Given the description of an element on the screen output the (x, y) to click on. 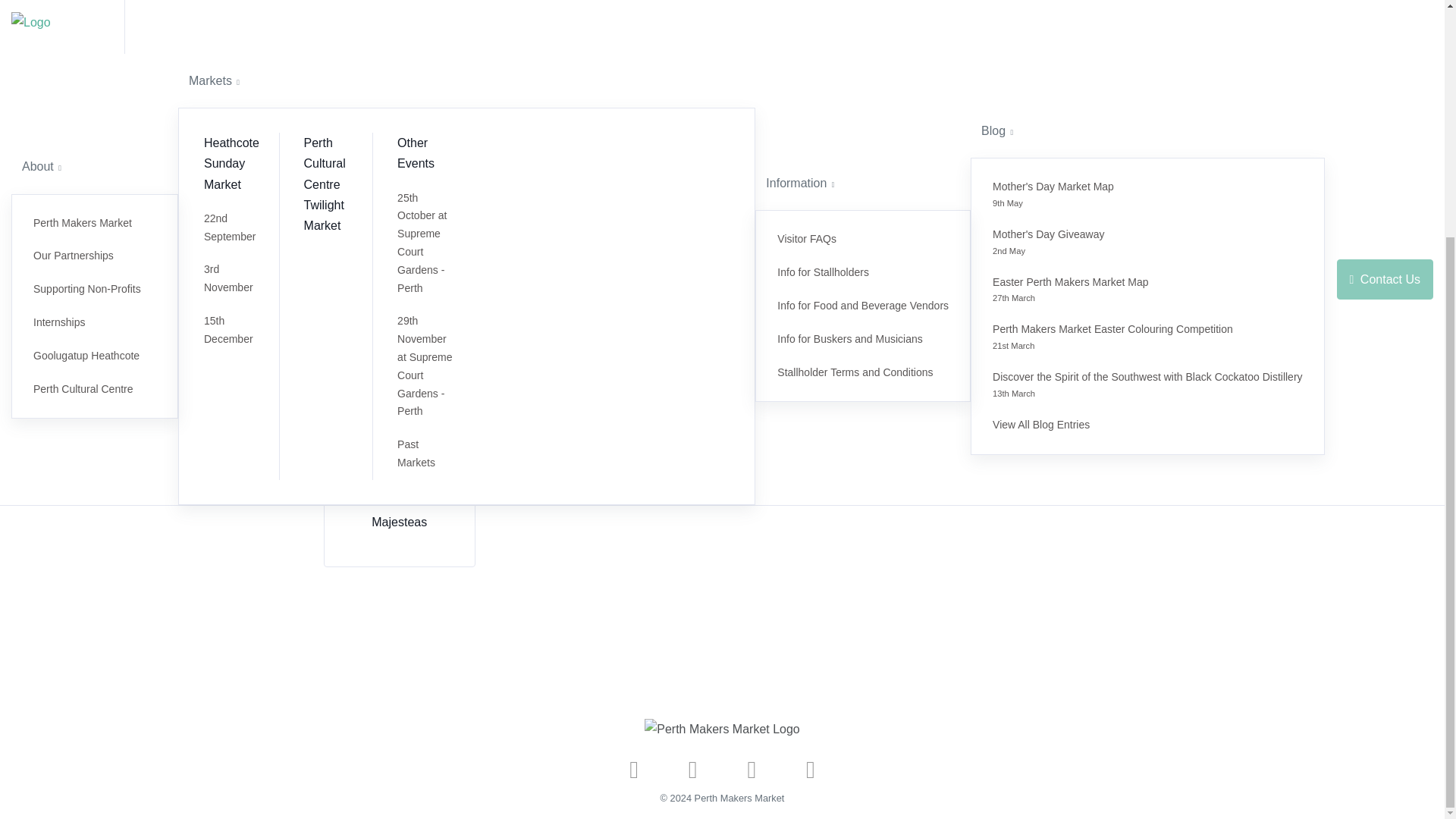
Internships (94, 7)
Goolugatup Heathcote (94, 31)
Majesteas (398, 521)
15th December (235, 15)
Info for Buskers and Musicians (862, 15)
Previous Markets (479, 330)
Perth Cultural Centre (94, 64)
Stallholder Terms and Conditions (862, 48)
View All Blog Entries (1147, 18)
Past Markets (1147, 100)
